Given the description of an element on the screen output the (x, y) to click on. 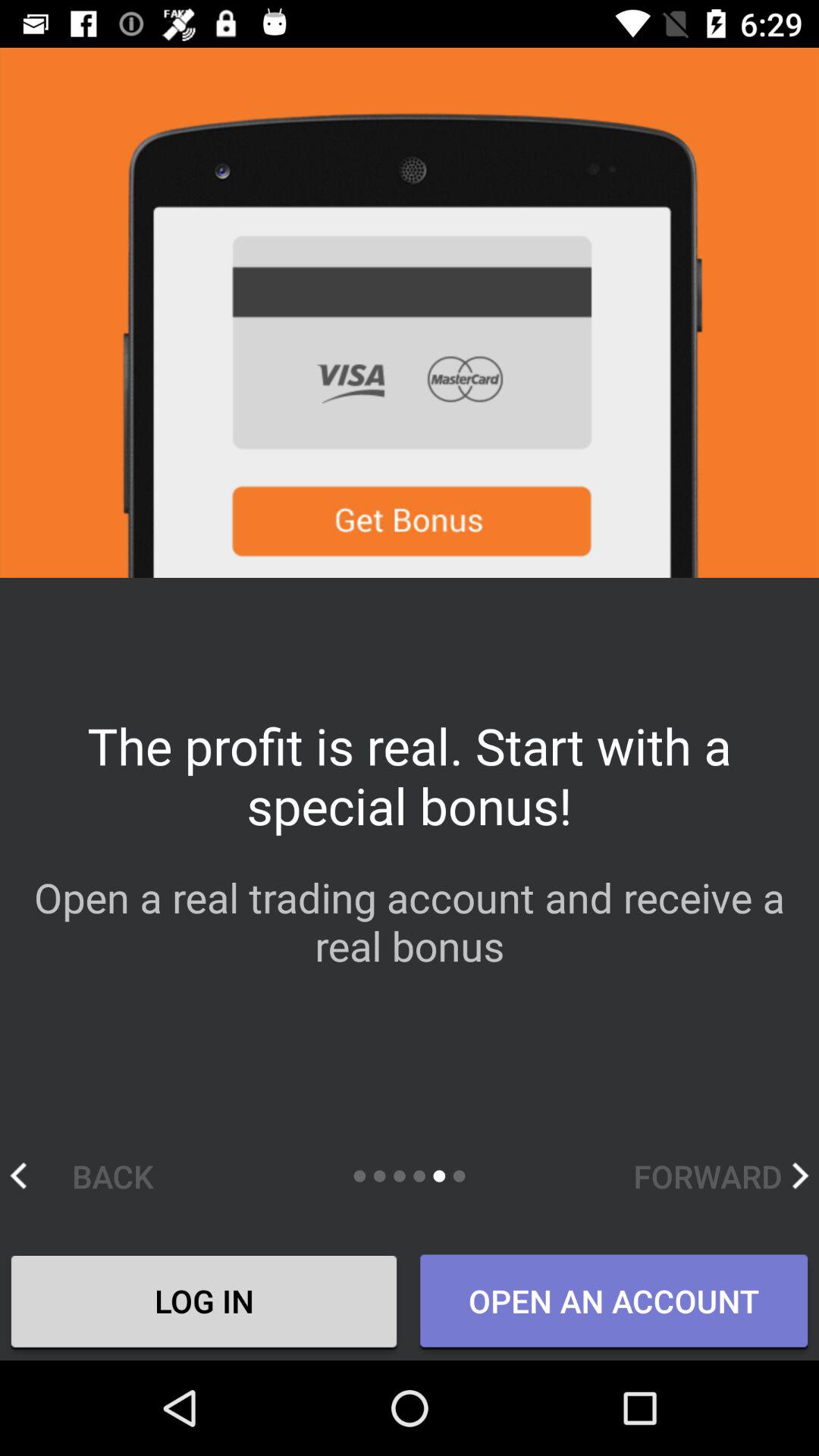
tap the back (97, 1175)
